Given the description of an element on the screen output the (x, y) to click on. 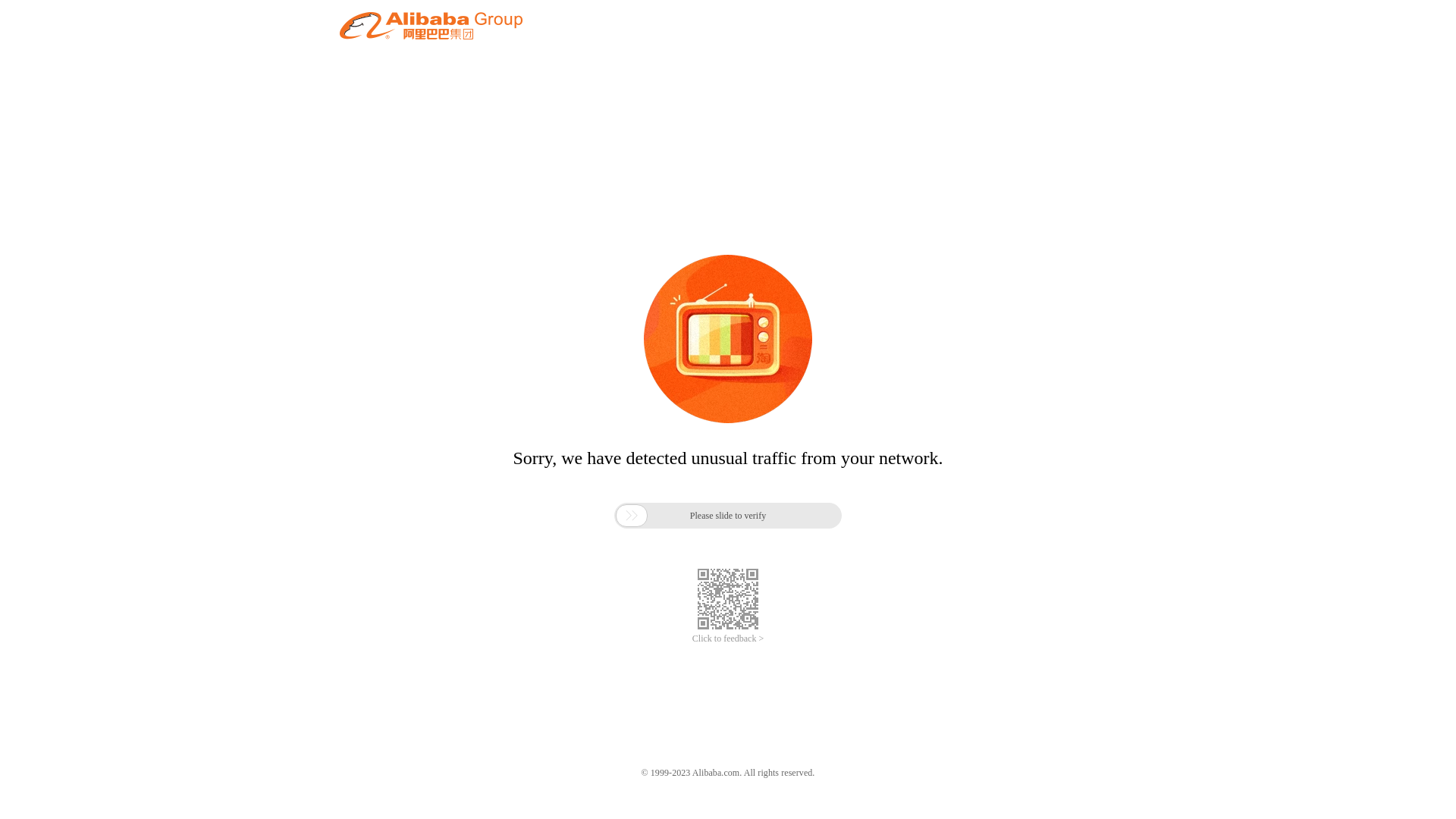
Click to feedback > Element type: text (727, 638)
